Given the description of an element on the screen output the (x, y) to click on. 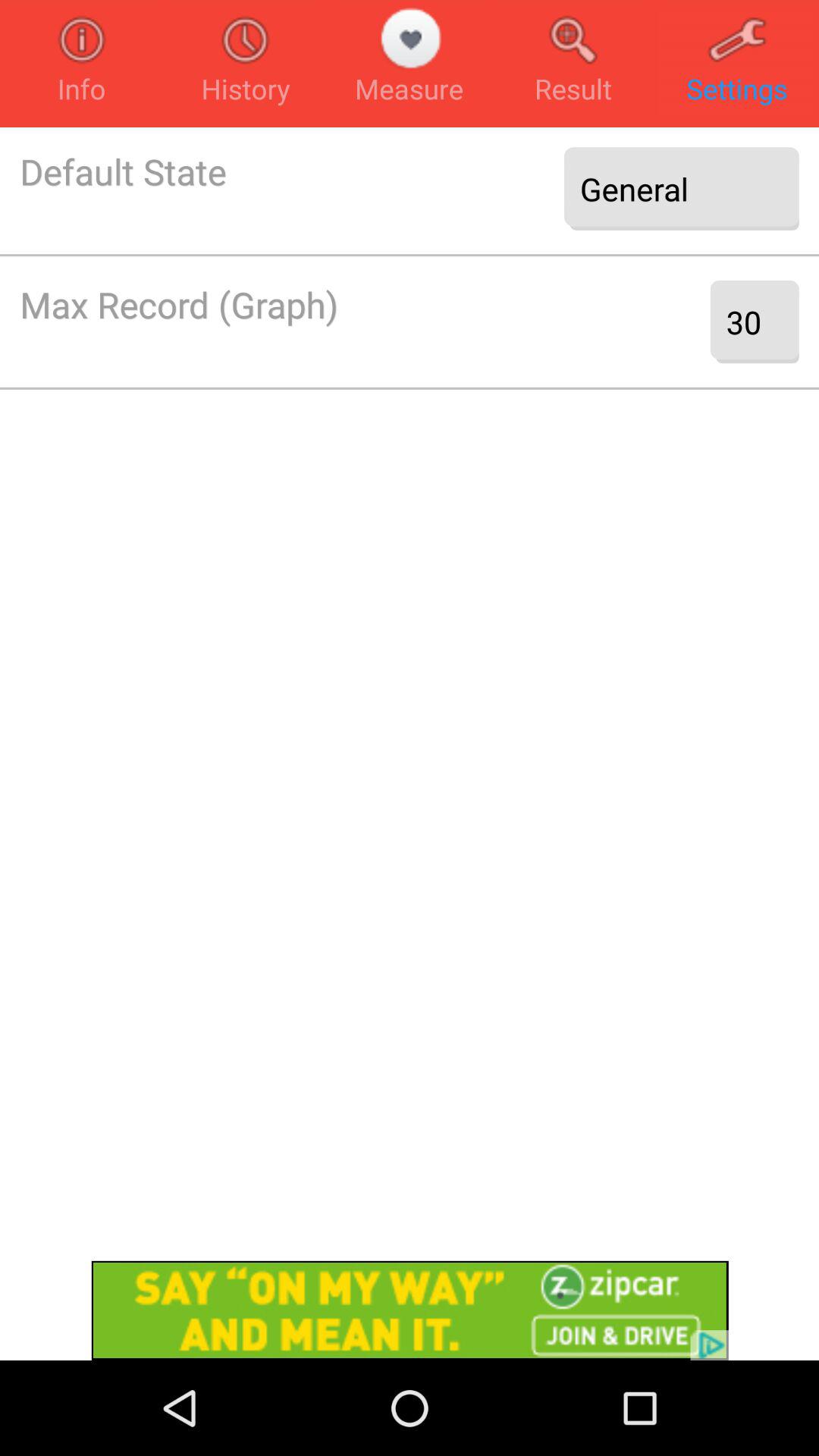
advertisement page (409, 1310)
